Given the description of an element on the screen output the (x, y) to click on. 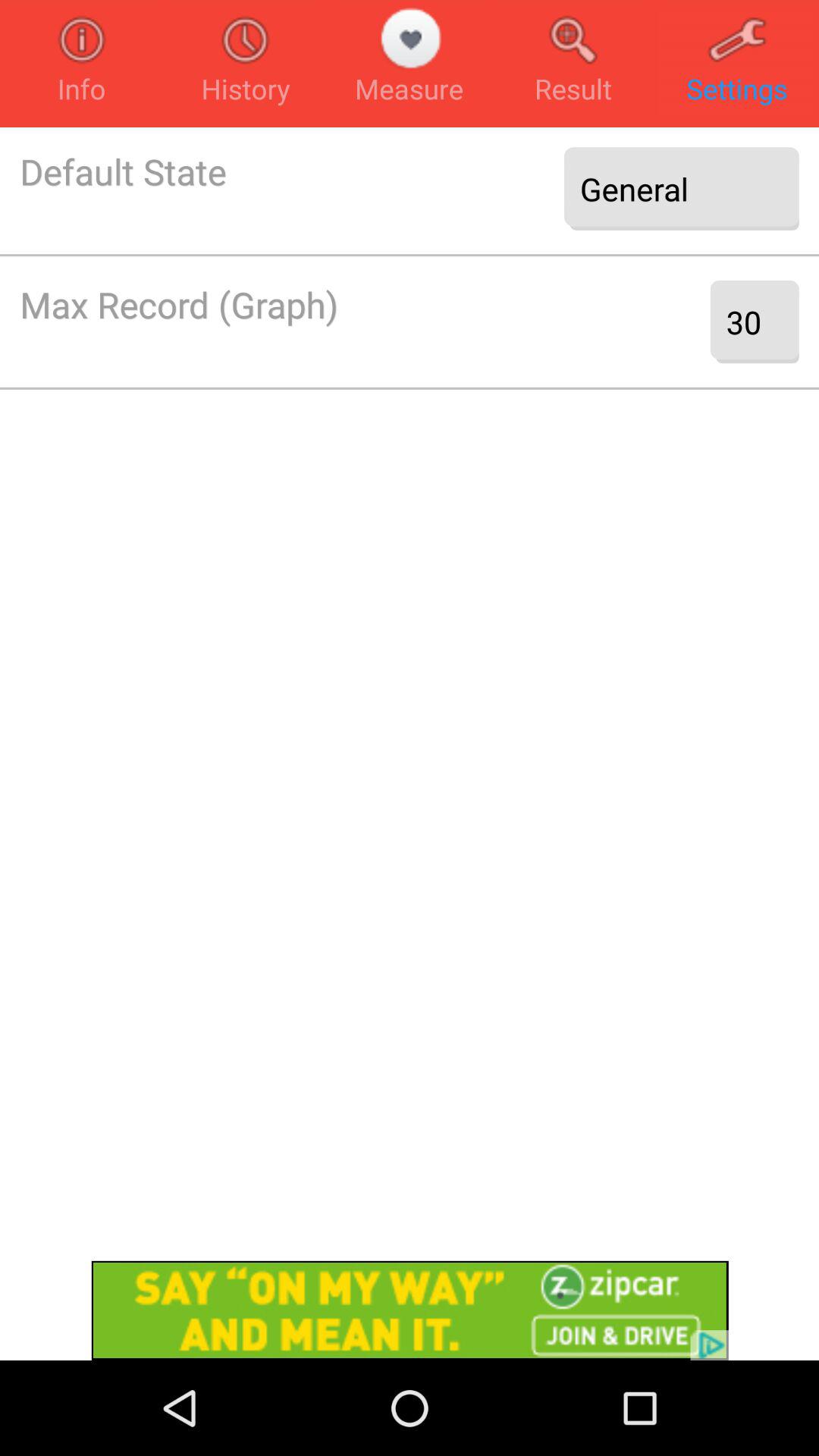
advertisement page (409, 1310)
